Given the description of an element on the screen output the (x, y) to click on. 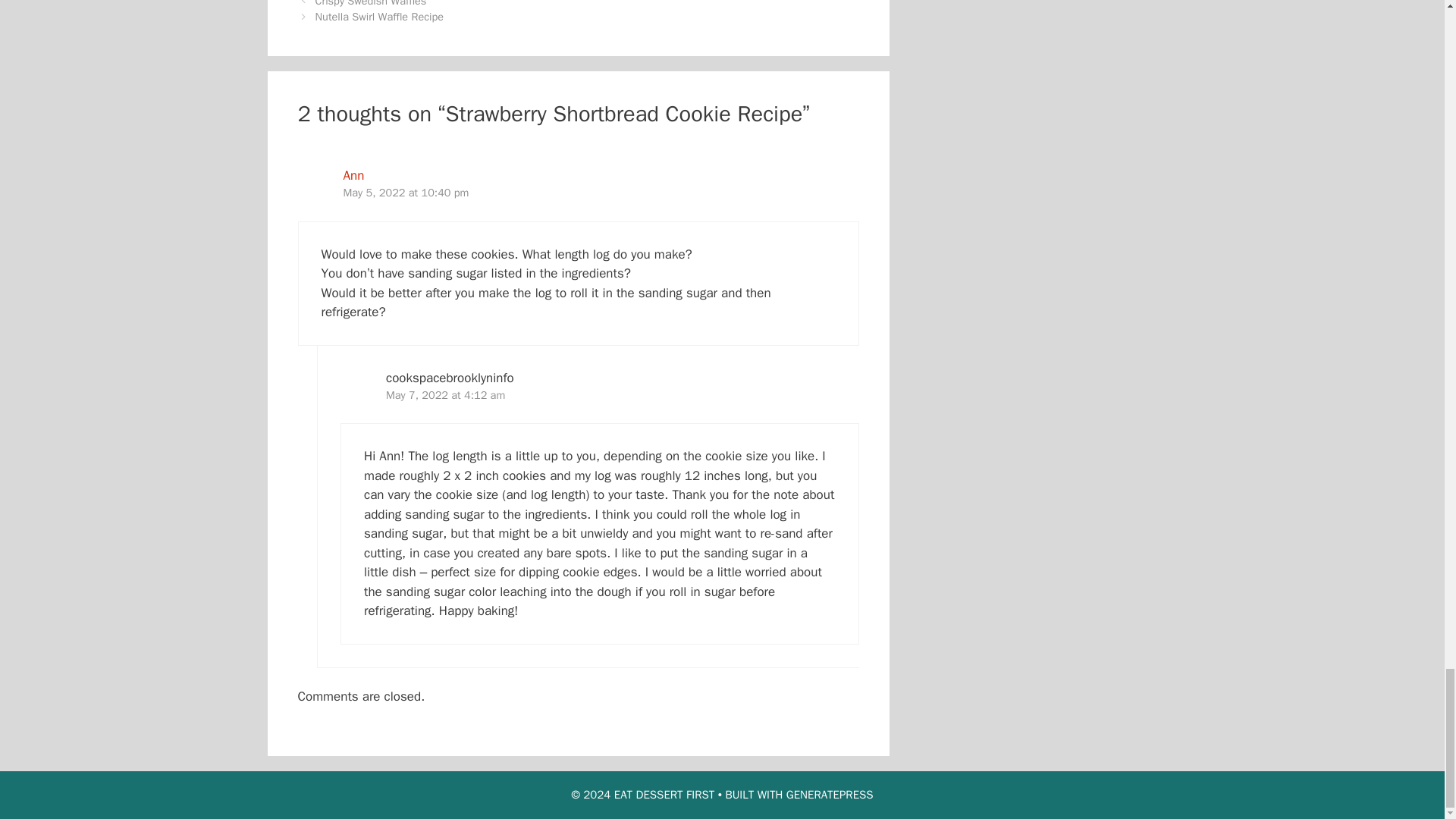
May 7, 2022 at 4:12 am (445, 395)
Crispy Swedish Waffles (370, 3)
May 5, 2022 at 10:40 pm (405, 192)
Nutella Swirl Waffle Recipe (379, 16)
Ann (353, 175)
